Given the description of an element on the screen output the (x, y) to click on. 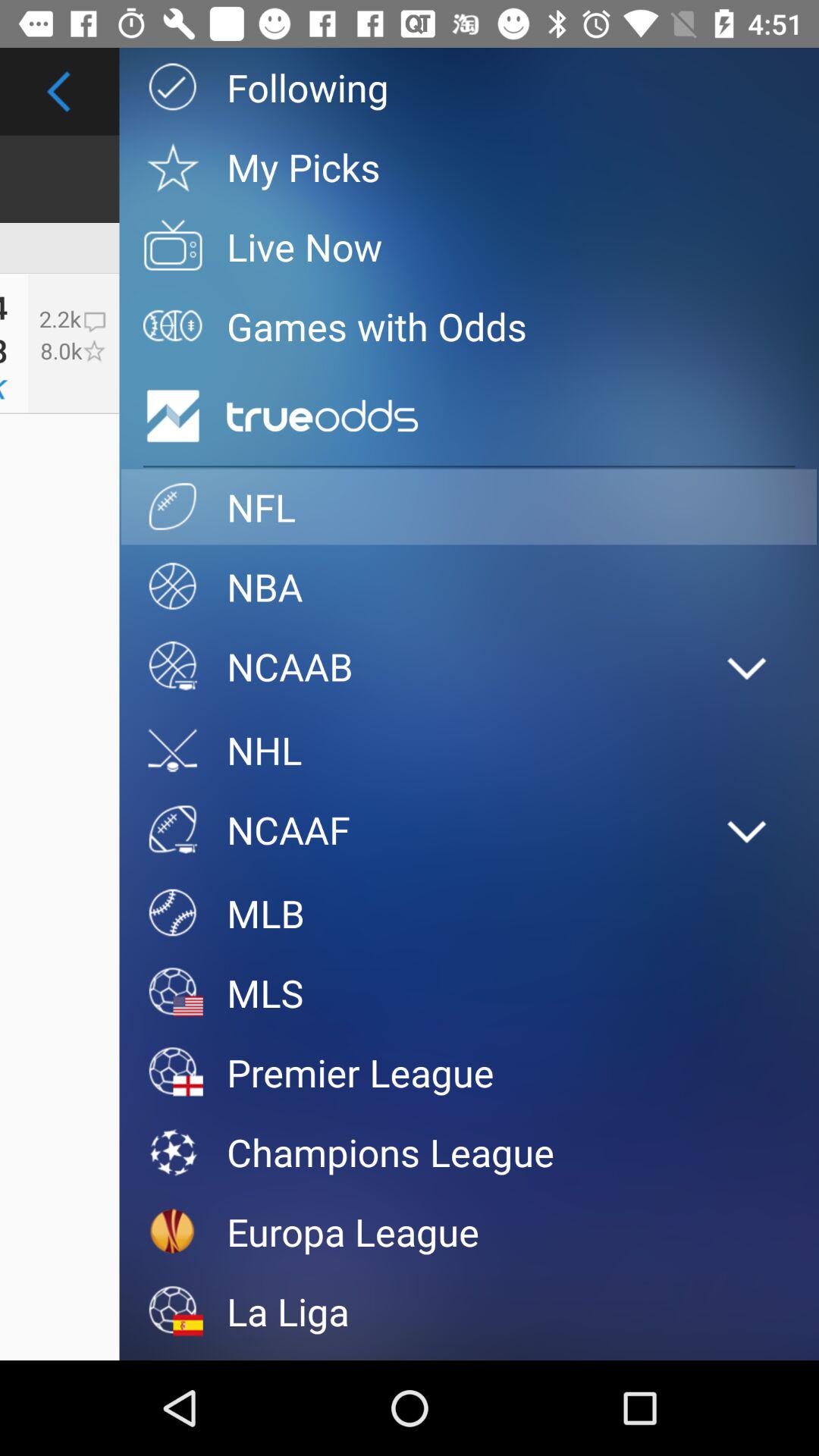
choose item to the right of 2 2k c item (173, 415)
